Given the description of an element on the screen output the (x, y) to click on. 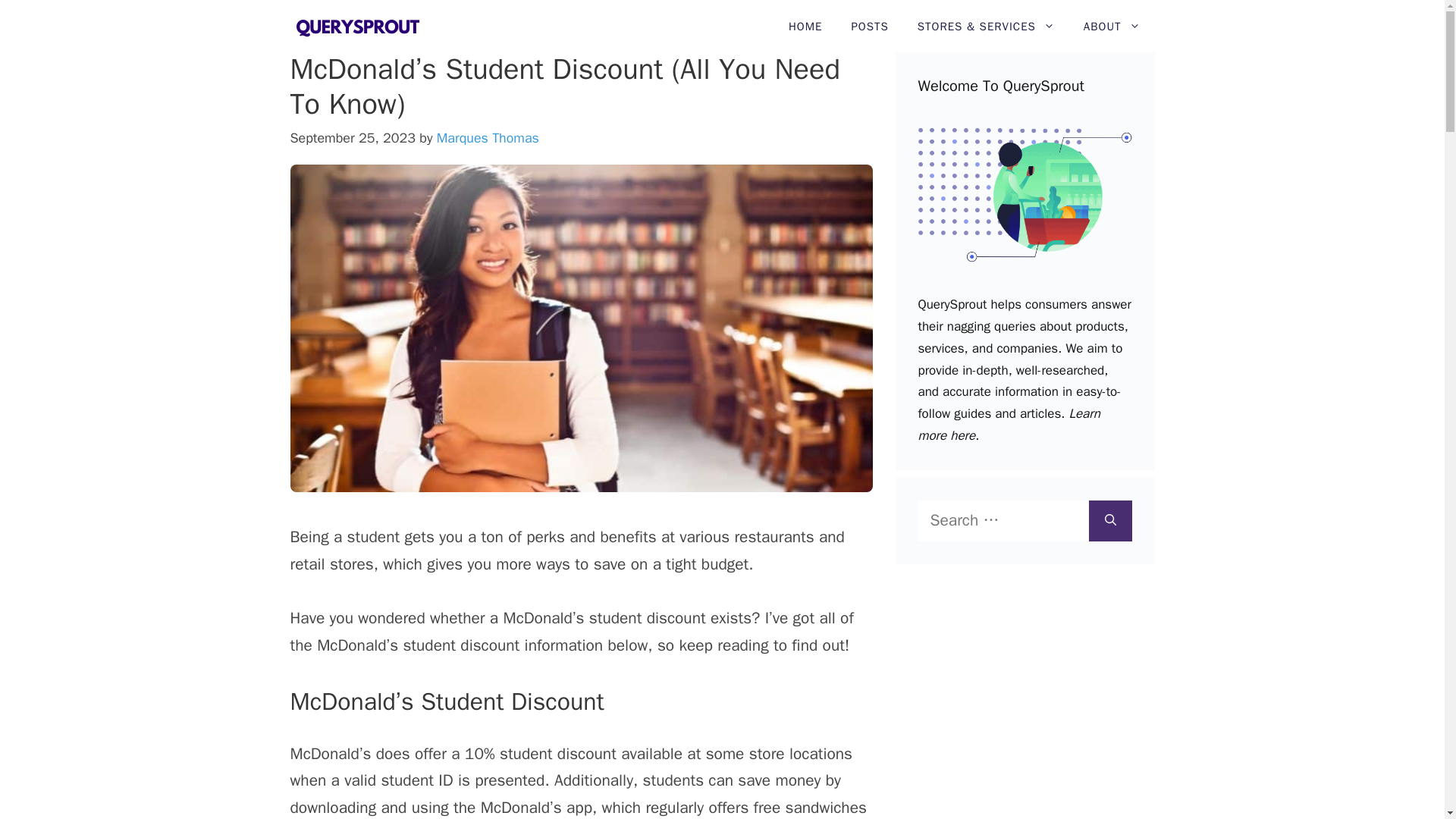
Learn more here (1008, 424)
HOME (804, 26)
Search for: (1002, 520)
ABOUT (1111, 26)
POSTS (868, 26)
Marques Thomas (487, 137)
View all posts by Marques Thomas (487, 137)
